Given the description of an element on the screen output the (x, y) to click on. 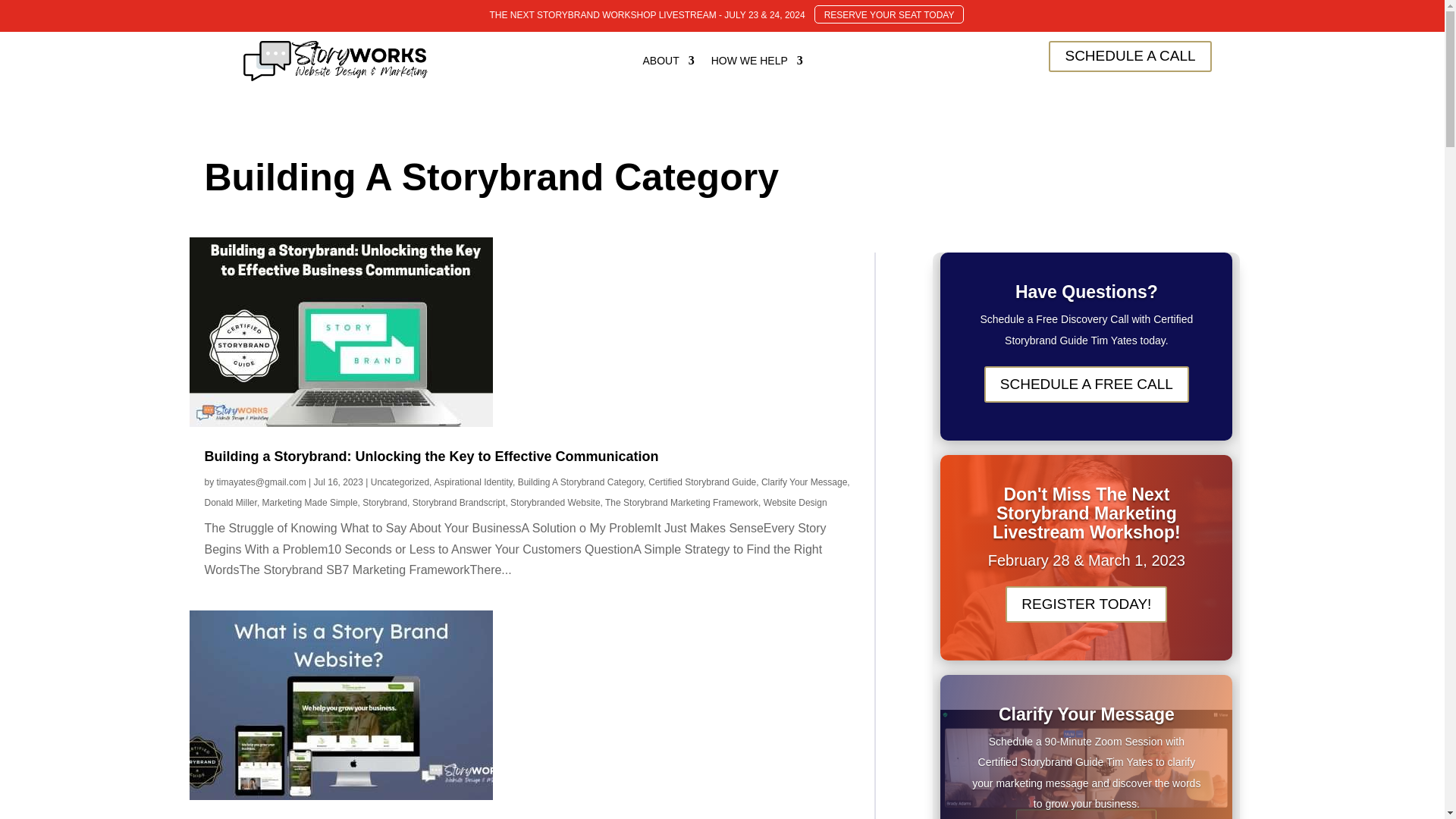
RESERVE YOUR SEAT TODAY (888, 13)
HOW WE HELP (757, 60)
ABOUT (668, 60)
